Given the description of an element on the screen output the (x, y) to click on. 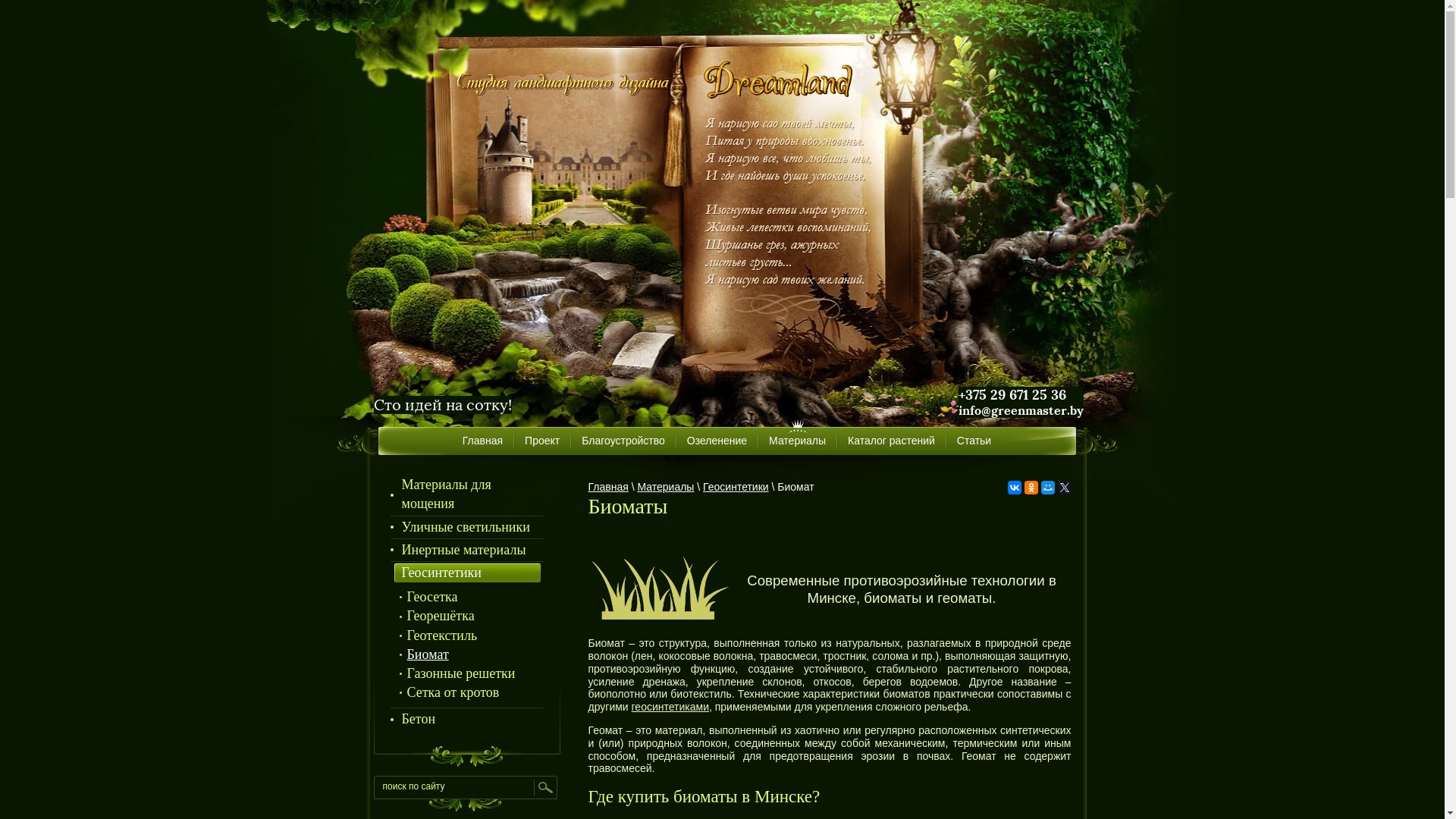
+375 29 671 25 36 Element type: text (1012, 394)
info@greenmaster.by Element type: text (1020, 410)
Twitter Element type: hover (1063, 487)
